Given the description of an element on the screen output the (x, y) to click on. 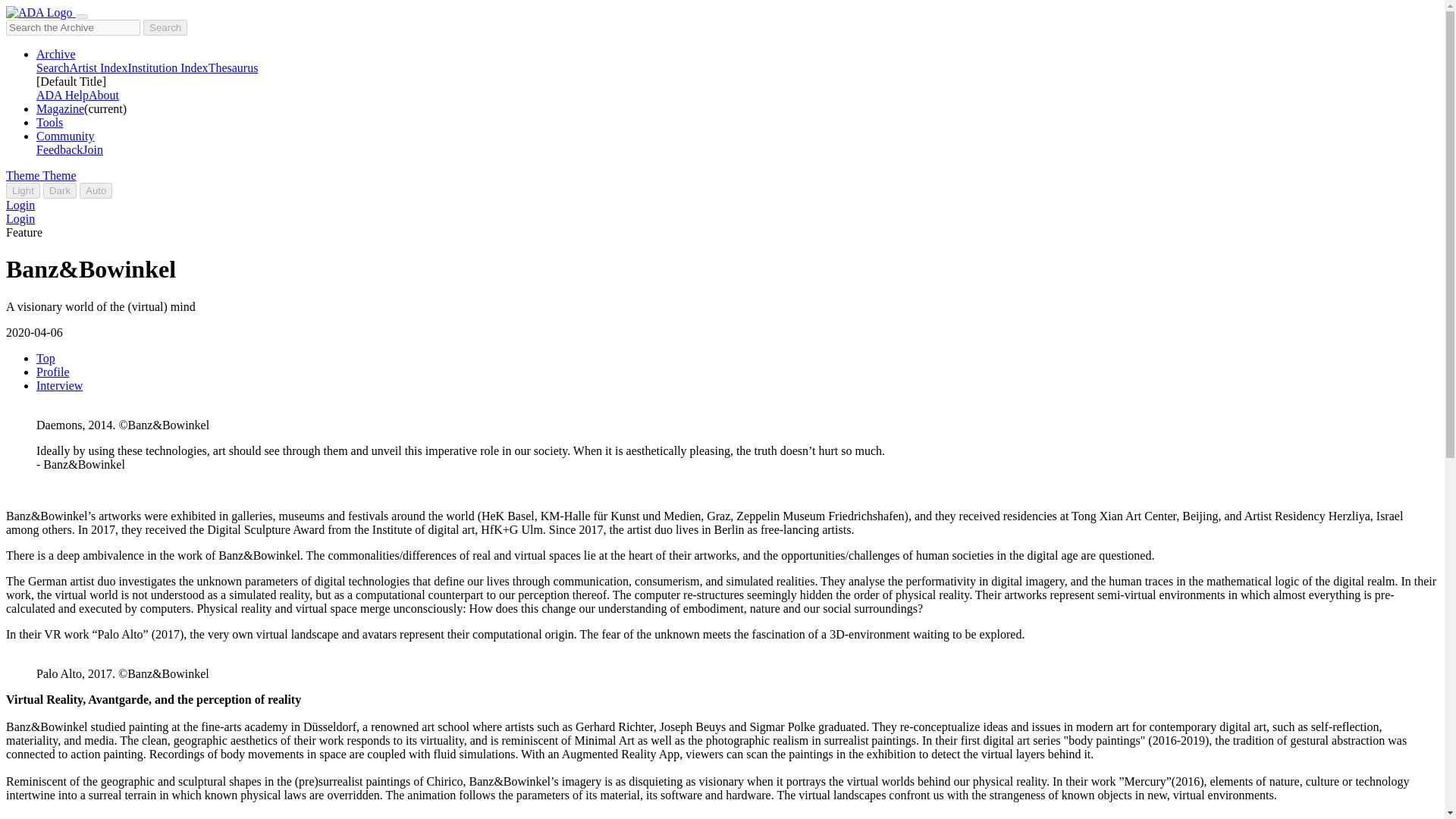
Magazine (60, 108)
Join (92, 149)
Search (52, 67)
ADA Help (62, 94)
Light (22, 190)
Thesaurus (233, 67)
Dark (60, 190)
Interview (59, 385)
Archive (55, 53)
Community (65, 135)
Profile (52, 371)
Feedback (59, 149)
Login (19, 205)
Top (45, 358)
Search (164, 27)
